Given the description of an element on the screen output the (x, y) to click on. 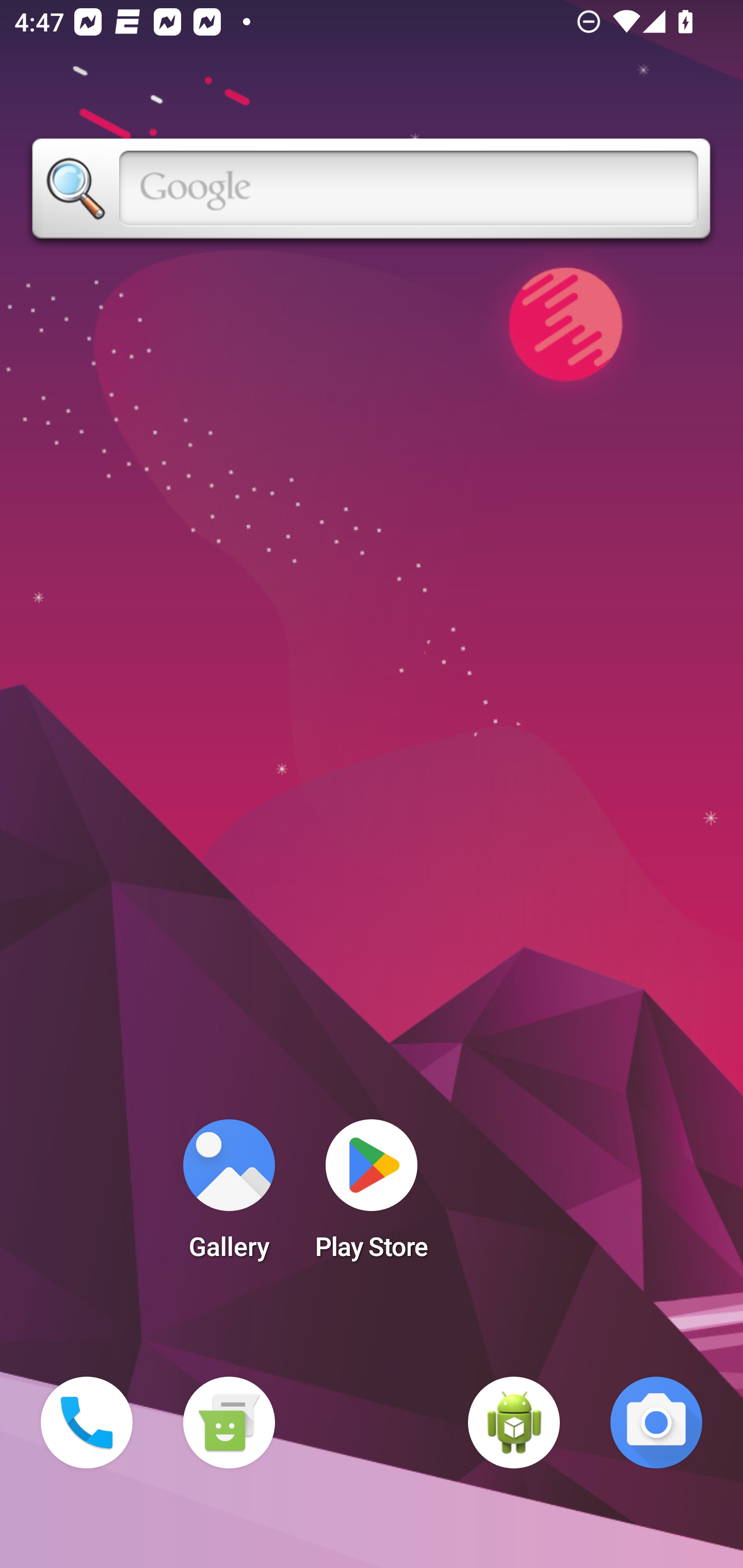
Gallery (228, 1195)
Play Store (371, 1195)
Phone (86, 1422)
Messaging (228, 1422)
WebView Browser Tester (513, 1422)
Camera (656, 1422)
